Given the description of an element on the screen output the (x, y) to click on. 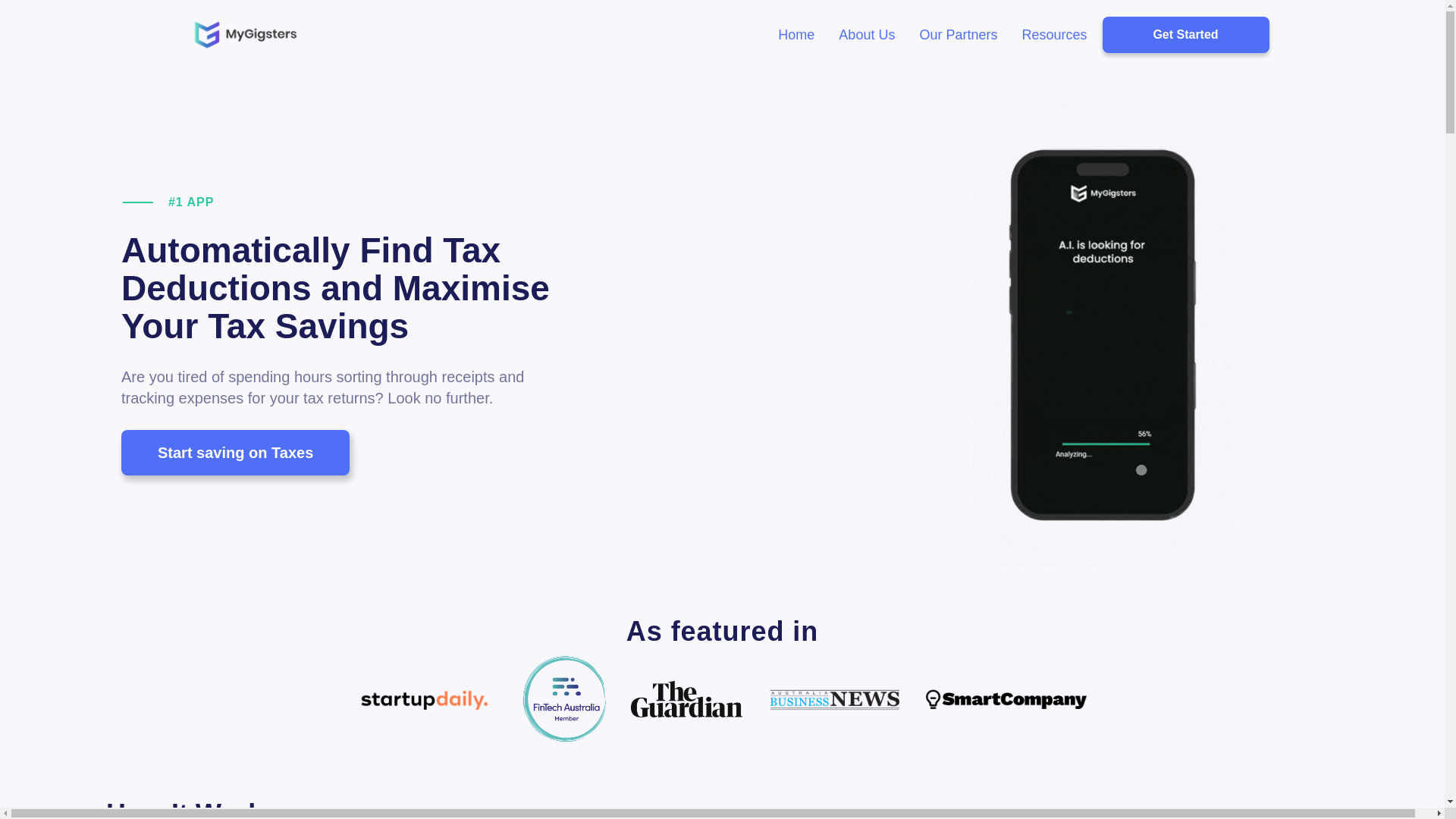
Home Element type: text (795, 34)
About Us Element type: text (866, 34)
Get Started Element type: text (1185, 34)
Start saving on Taxes Element type: text (235, 452)
Resources Element type: text (1053, 34)
Our Partners Element type: text (958, 34)
